Given the description of an element on the screen output the (x, y) to click on. 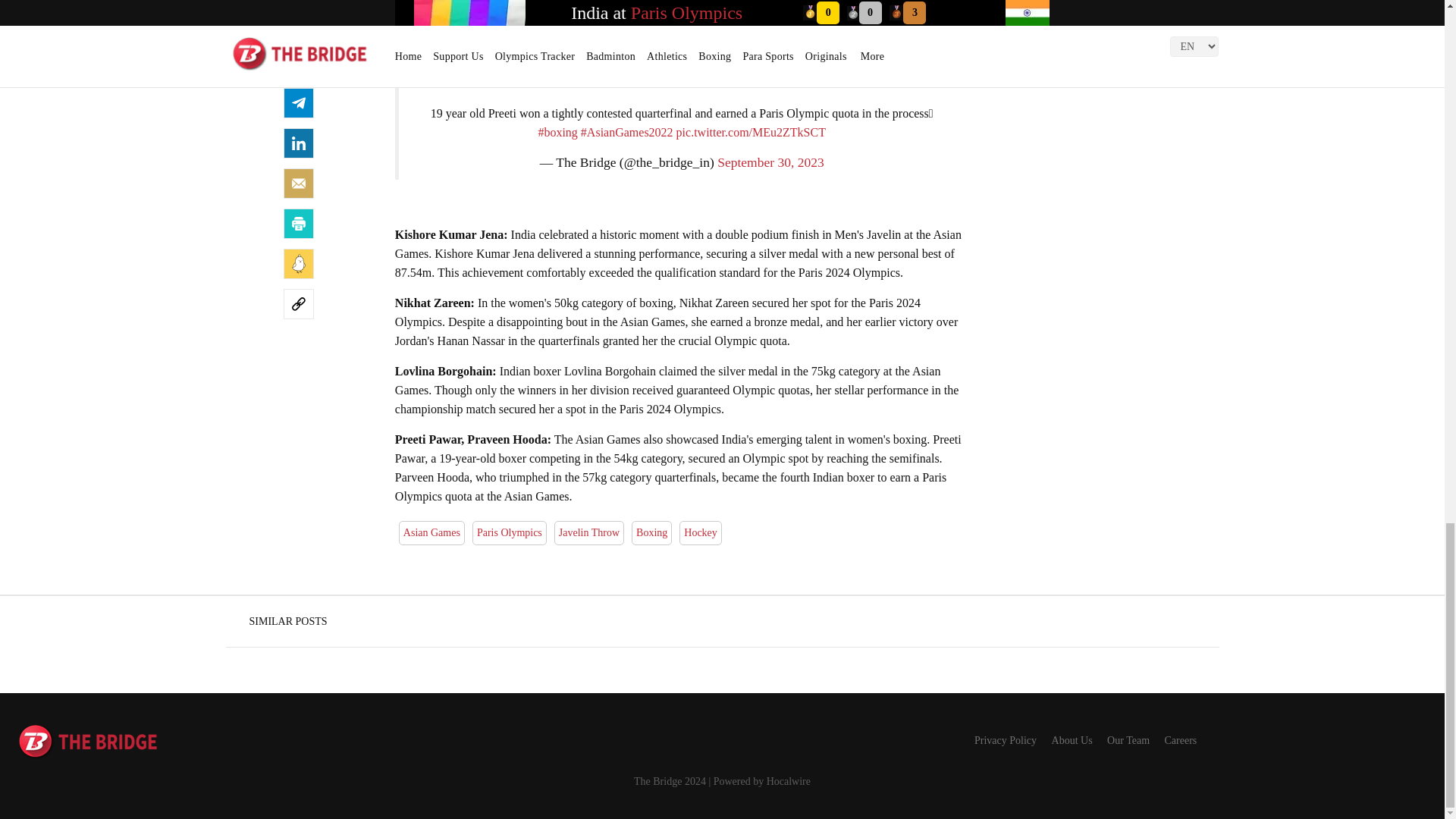
Share by Email (298, 183)
LinkedIn (298, 142)
